Given the description of an element on the screen output the (x, y) to click on. 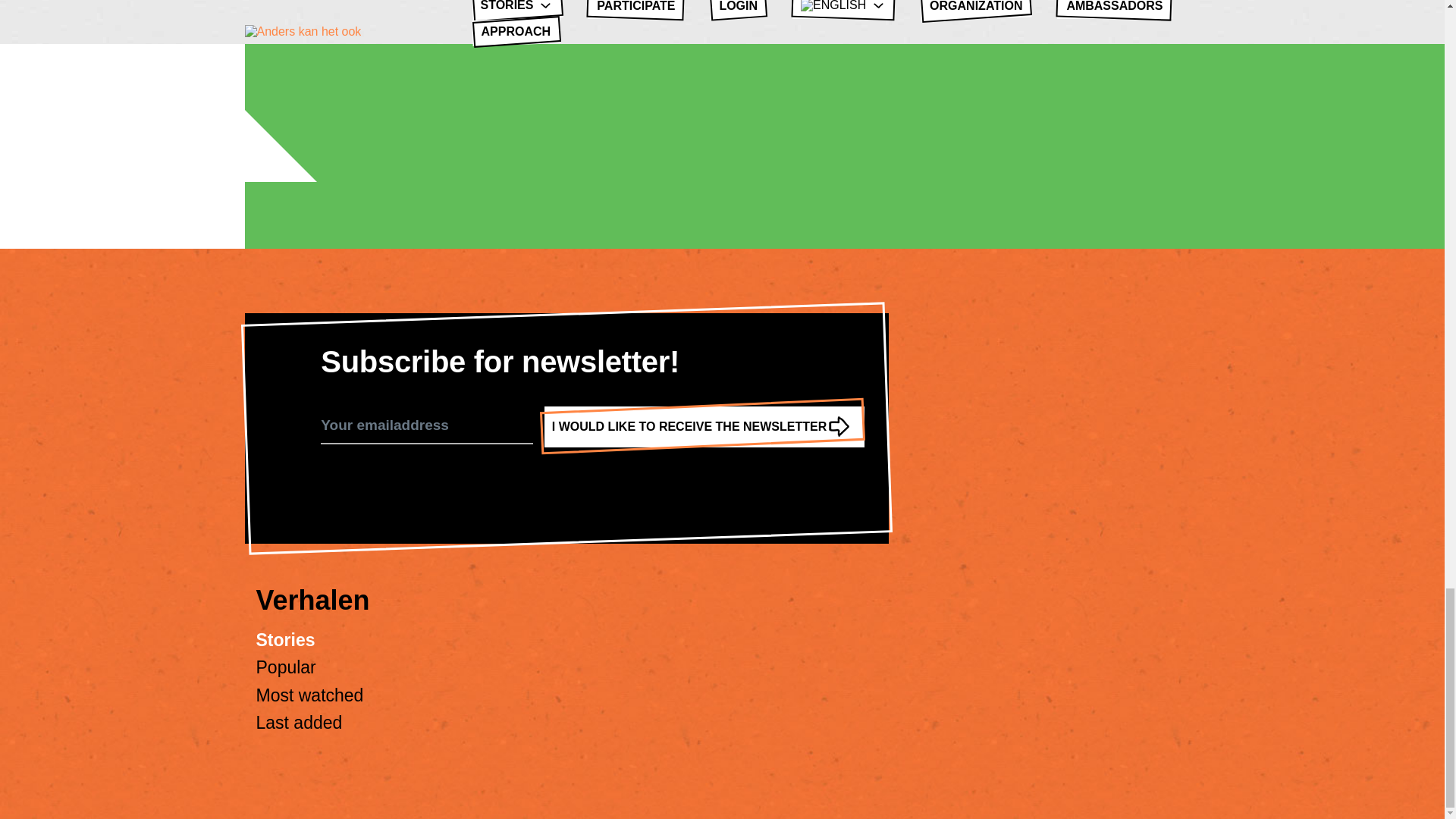
I would like to receive the newsletter (704, 426)
Popular (285, 667)
Most watched (310, 695)
I would like to receive the newsletter (704, 426)
Stories (285, 639)
Last added (299, 722)
